Given the description of an element on the screen output the (x, y) to click on. 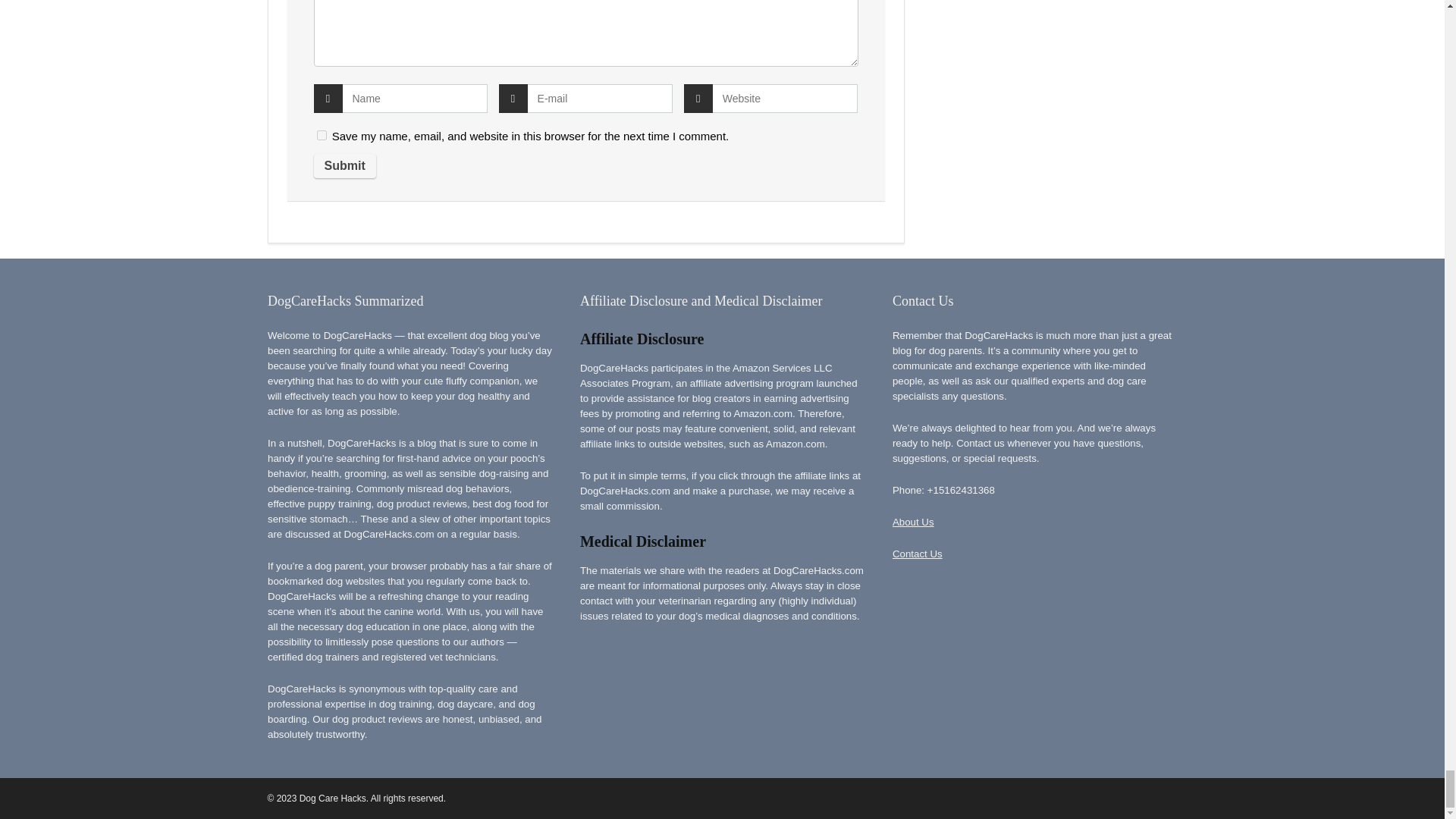
yes (321, 135)
Submit (344, 165)
